Given the description of an element on the screen output the (x, y) to click on. 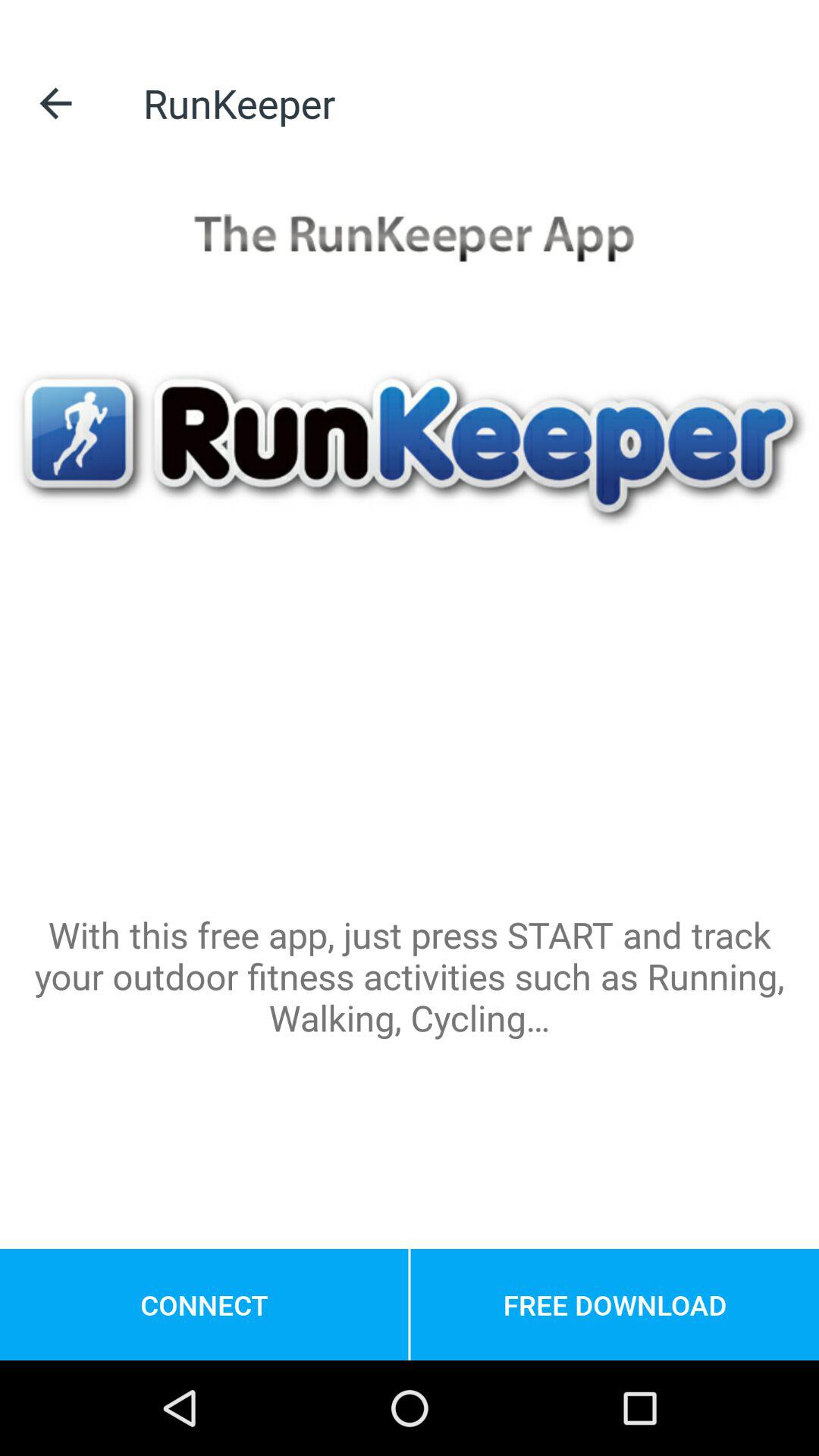
go to previous page (55, 103)
